Given the description of an element on the screen output the (x, y) to click on. 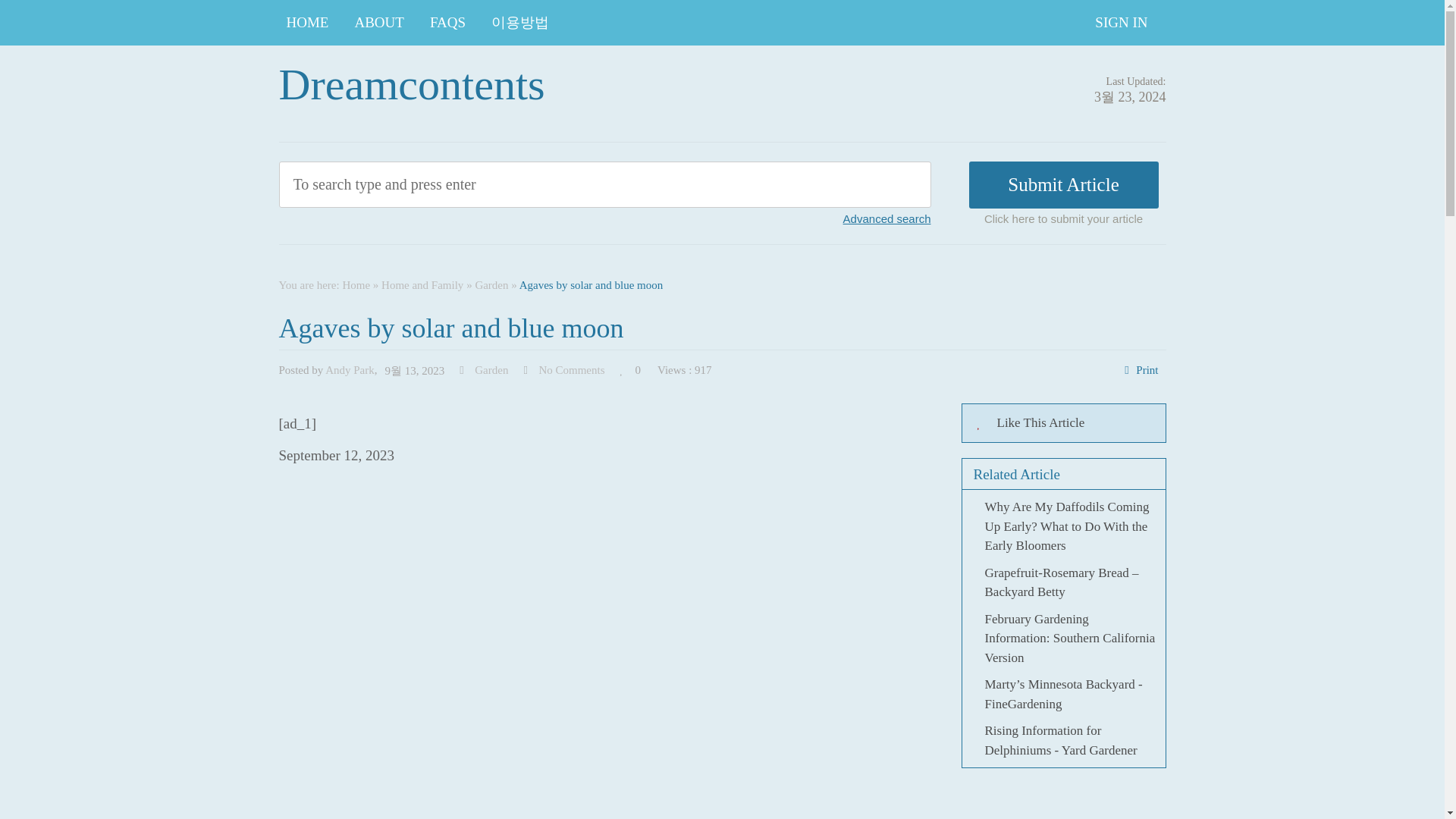
Rising Information for Delphiniums - Yard Gardener (1060, 740)
HOME (307, 22)
Dreamcontents (411, 83)
SIGN IN (1120, 22)
Submit Article (1063, 184)
Like This Article (1063, 423)
Home (355, 285)
FAQS (447, 22)
Garden (491, 285)
February Gardening Information: Southern California Version (1069, 637)
Garden (491, 369)
No Comments (571, 369)
ABOUT (378, 22)
To search type and press enter (535, 184)
